Given the description of an element on the screen output the (x, y) to click on. 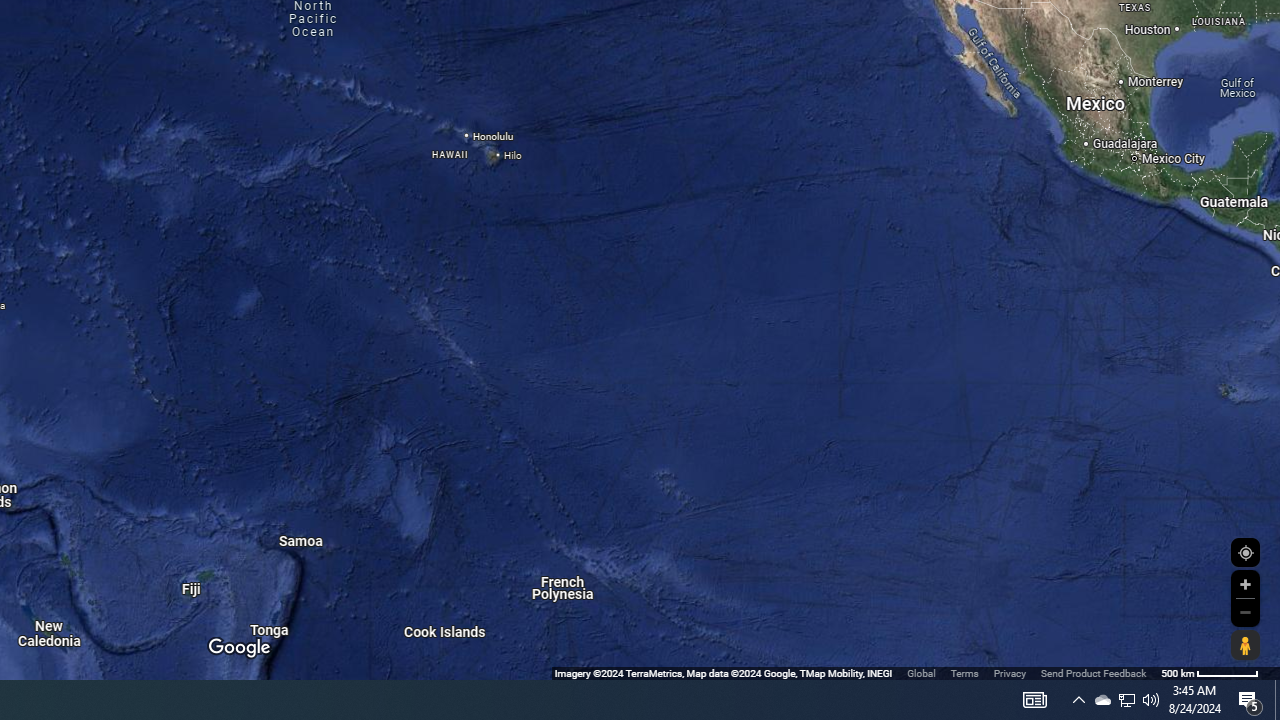
Show Your Location (1245, 552)
500 m (1209, 672)
Global (921, 672)
Zoom in (1245, 584)
Show Street View coverage (1245, 645)
Send Product Feedback (1093, 672)
Zoom out (1245, 612)
